Given the description of an element on the screen output the (x, y) to click on. 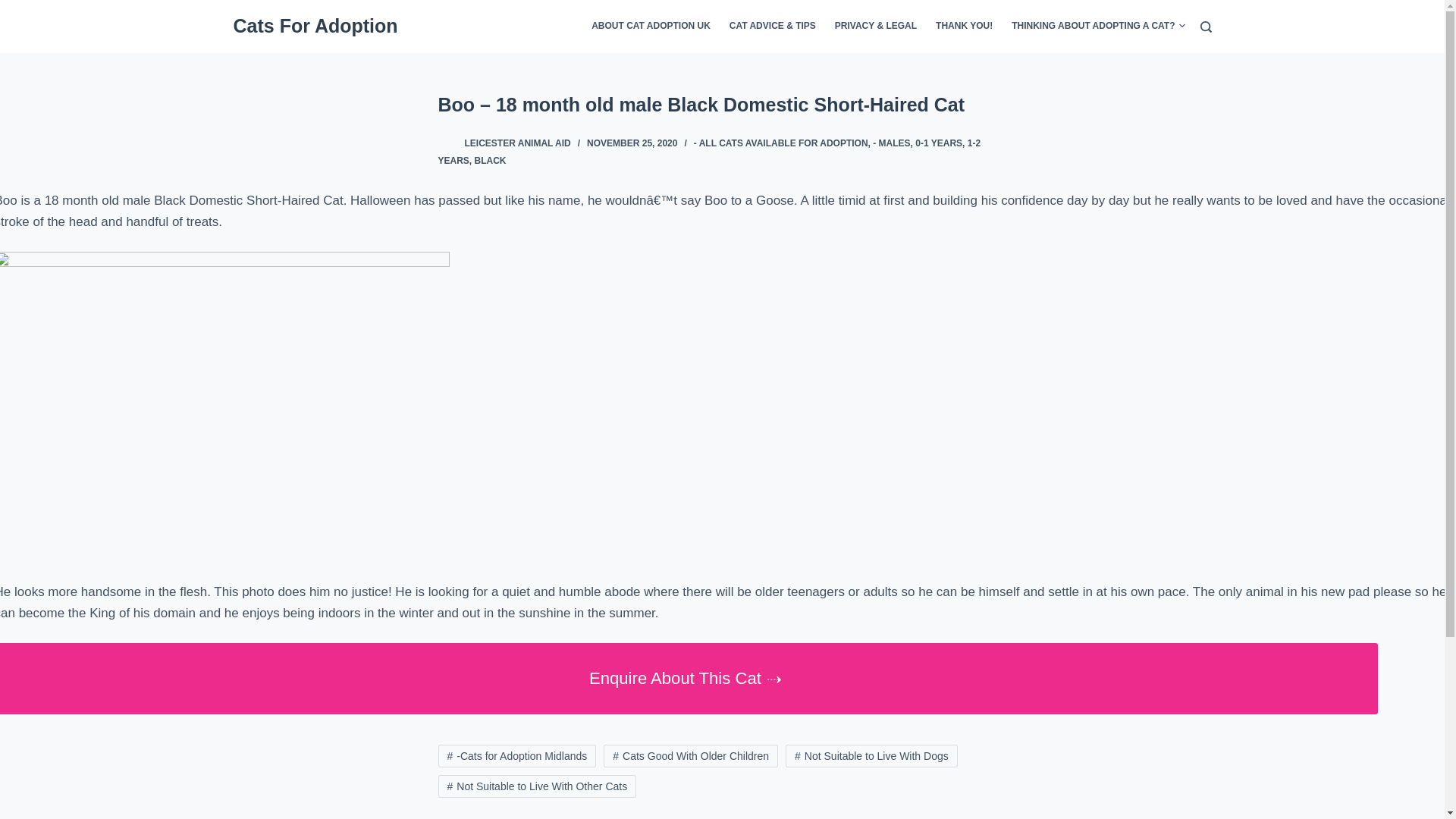
Not Suitable to Live With Other Cats (537, 785)
Cats For Adoption (314, 25)
-Cats for Adoption Midlands (517, 755)
BLACK (490, 159)
Cats Good With Older Children (690, 755)
- ALL CATS AVAILABLE FOR ADOPTION (780, 143)
Skip to content (15, 7)
0-1 YEARS (938, 143)
LEICESTER ANIMAL AID (517, 143)
1-2 YEARS (709, 151)
THANK YOU! (964, 26)
Not Suitable to Live With Dogs (872, 755)
Posts by Leicester Animal Aid (517, 143)
THINKING ABOUT ADOPTING A CAT? (1094, 26)
ABOUT CAT ADOPTION UK (655, 26)
